Given the description of an element on the screen output the (x, y) to click on. 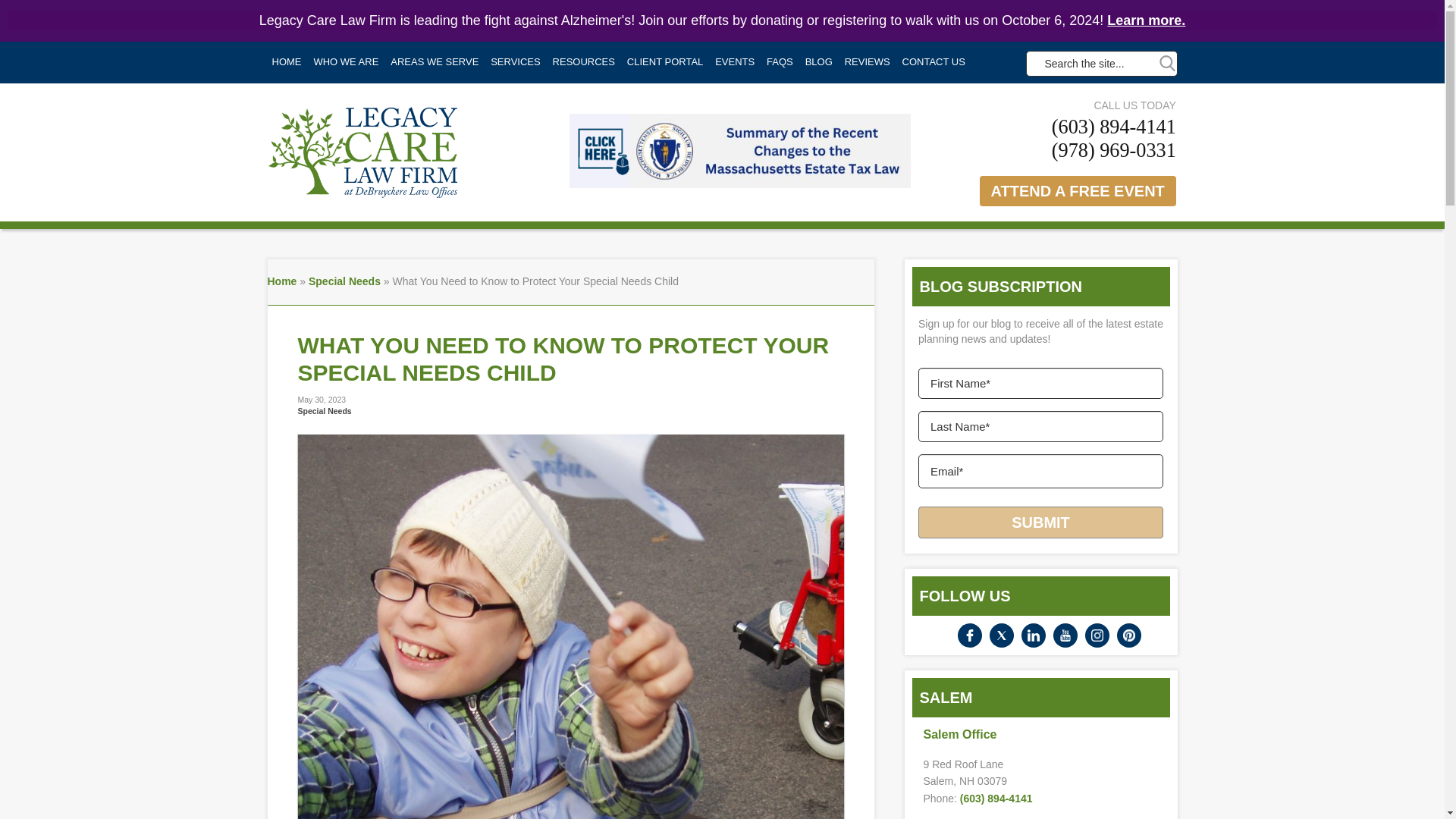
SERVICES (515, 61)
HOME (285, 61)
Search (1166, 63)
AREAS WE SERVE (434, 61)
Submit (1040, 522)
Search (1166, 63)
Learn more. (1145, 20)
WHO WE ARE (345, 61)
